Given the description of an element on the screen output the (x, y) to click on. 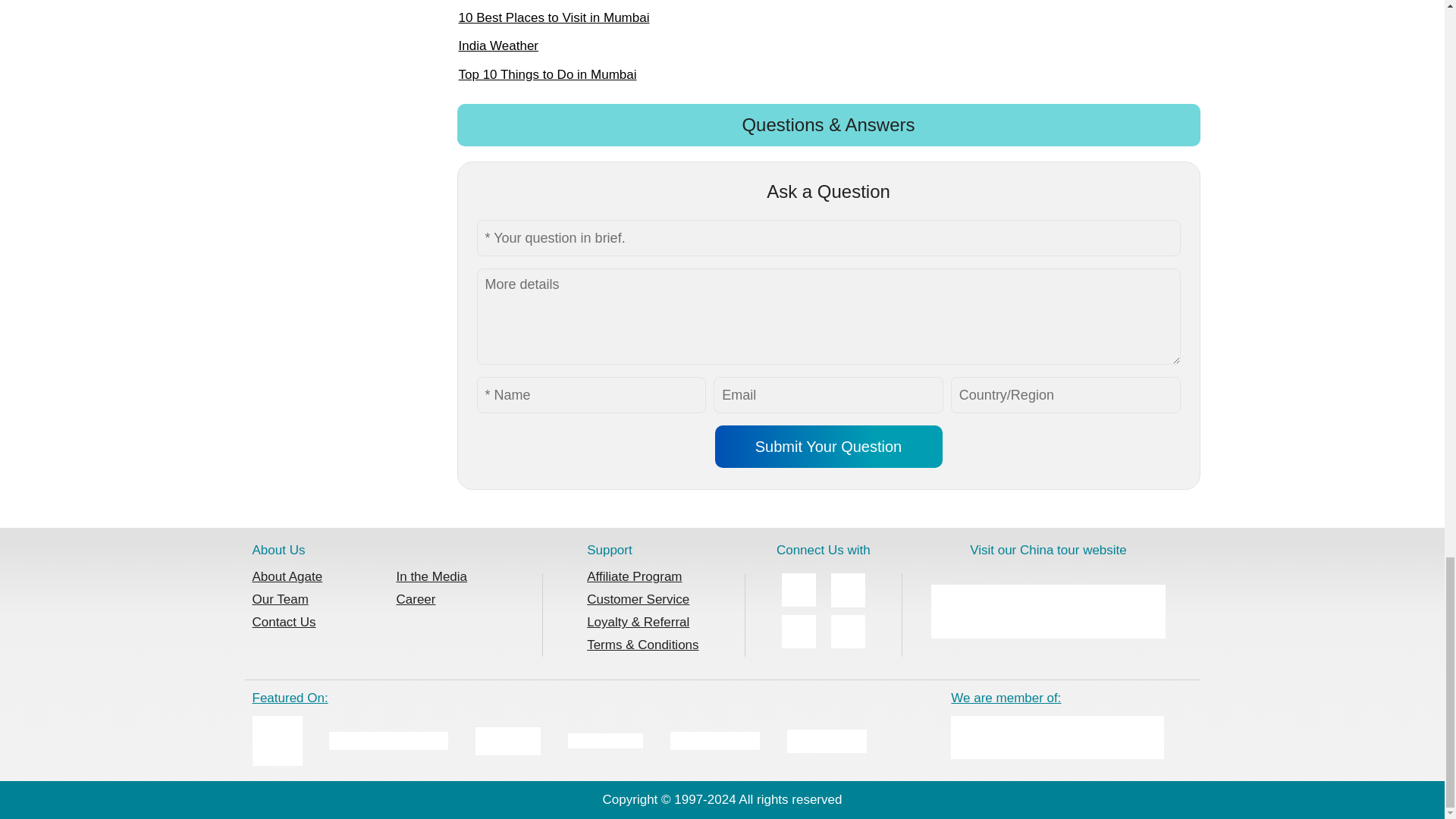
Submit Your Question (828, 446)
